Given the description of an element on the screen output the (x, y) to click on. 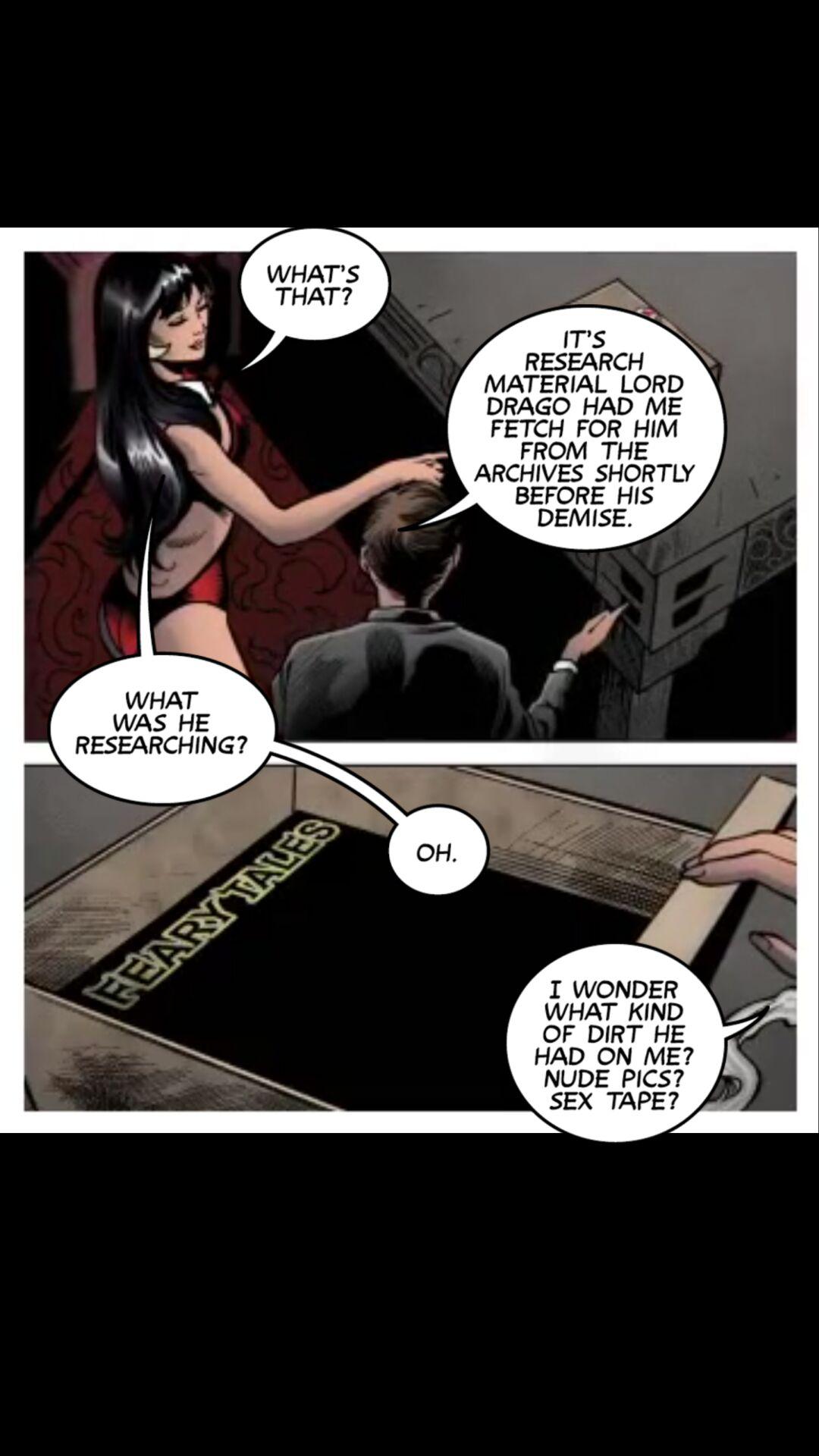
go to story (306, 302)
